Given the description of an element on the screen output the (x, y) to click on. 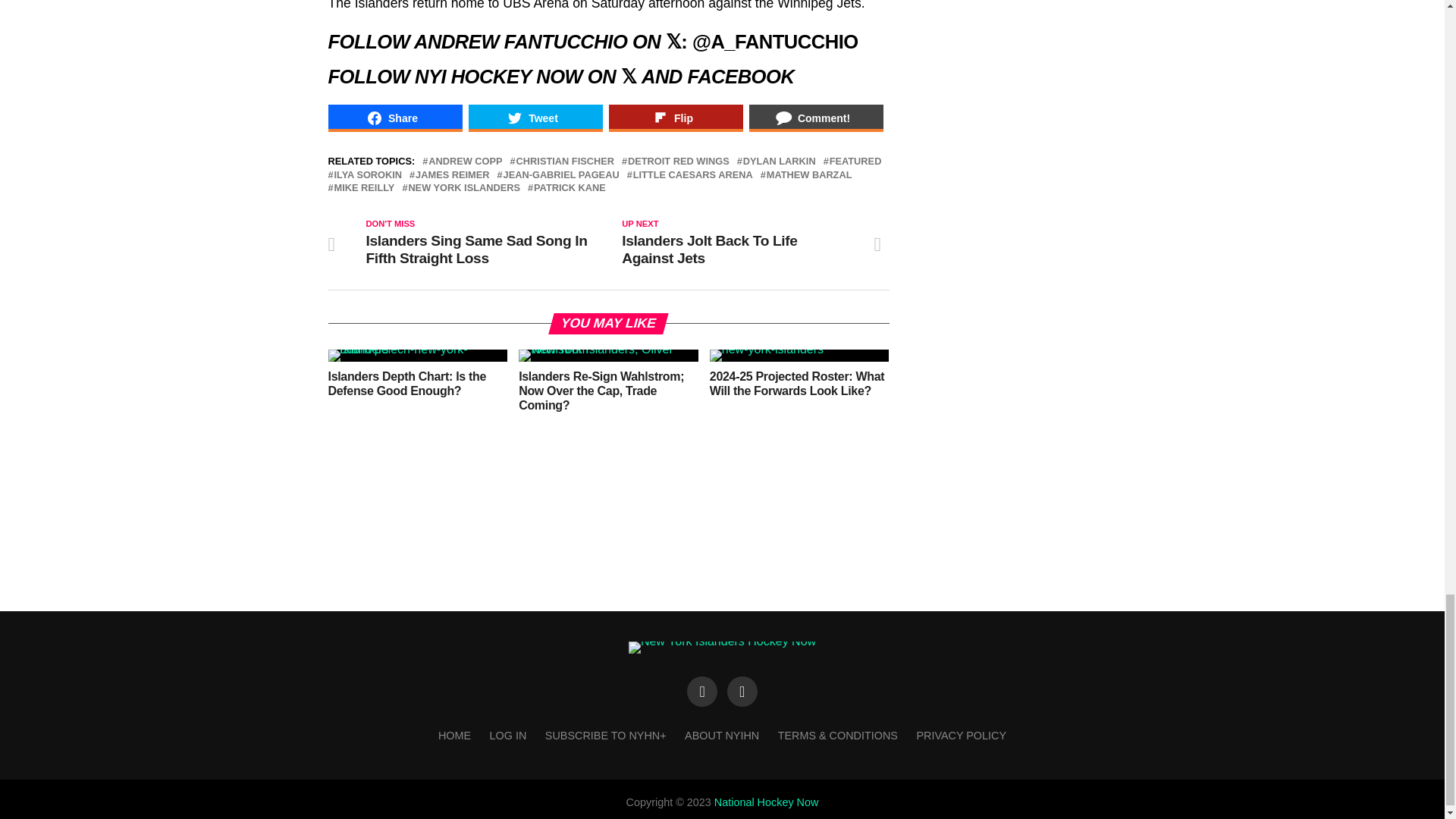
Share on Flip (675, 117)
Share on Comment! (816, 117)
Share on Share (394, 117)
Share on Tweet (535, 117)
